Given the description of an element on the screen output the (x, y) to click on. 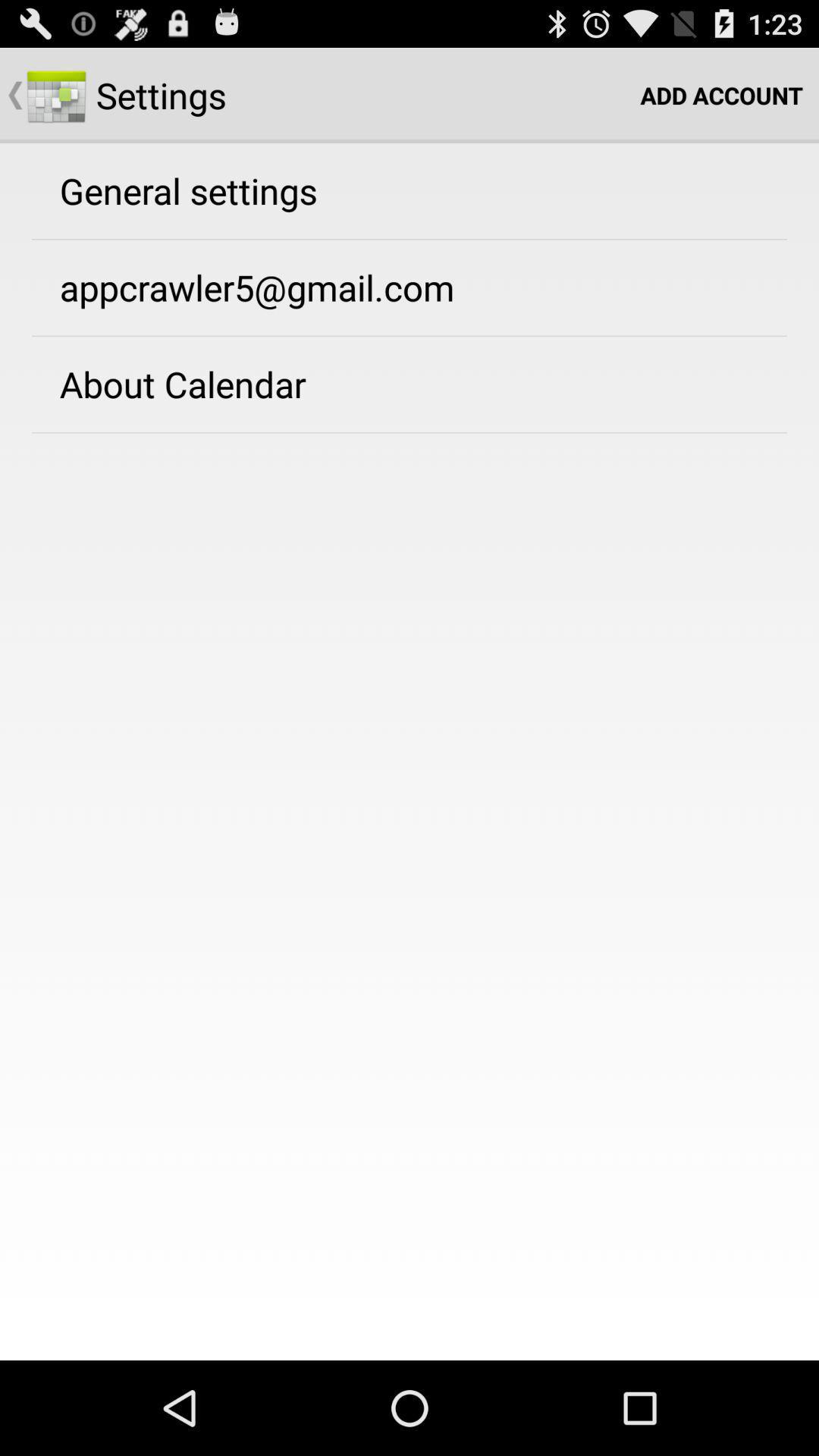
press app above appcrawler5@gmail.com item (188, 190)
